Given the description of an element on the screen output the (x, y) to click on. 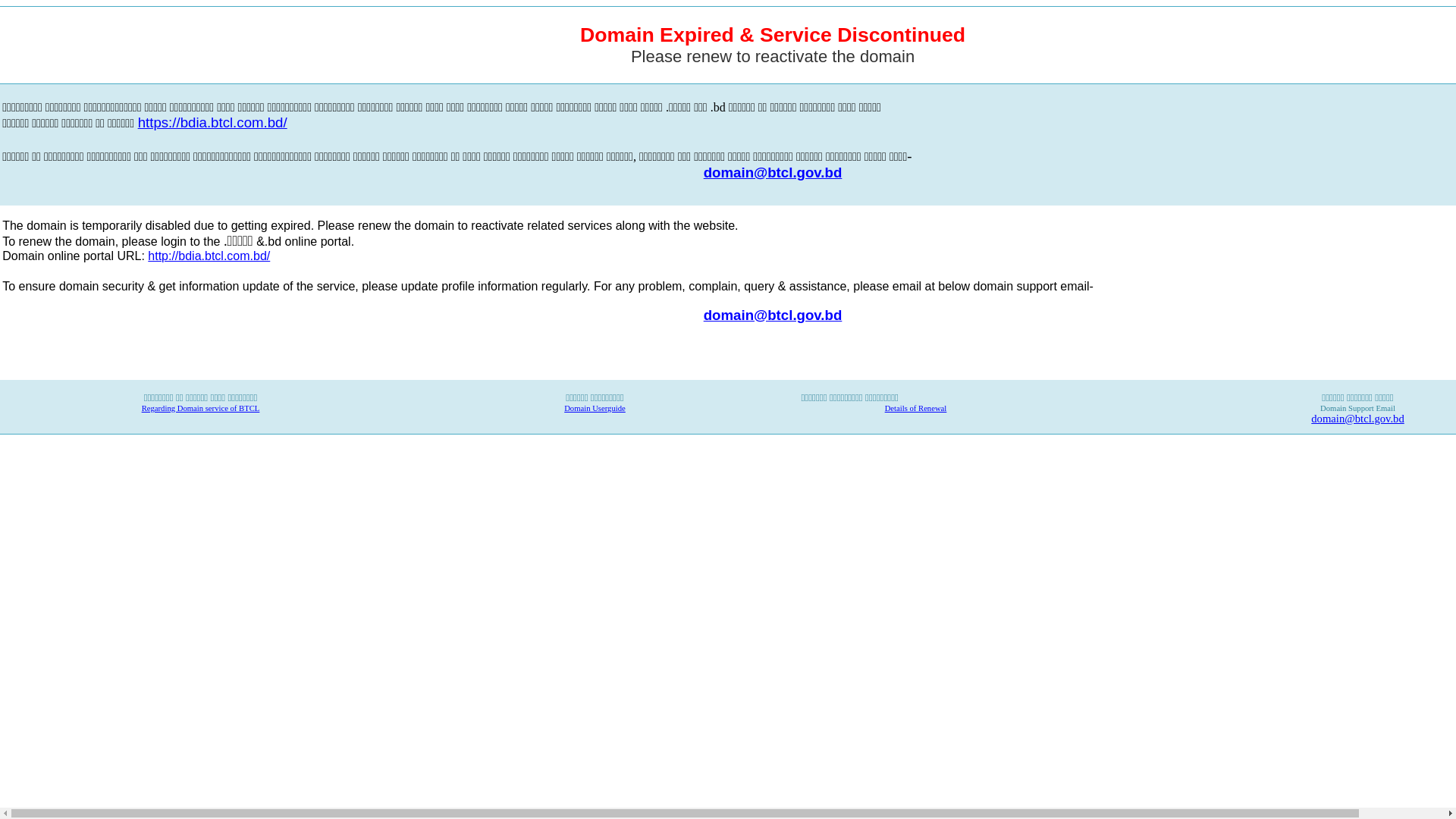
Domain Userguide Element type: text (594, 408)
domain@btcl.gov.bd Element type: text (1357, 418)
http://bdia.btcl.com.bd/ Element type: text (208, 256)
domain@btcl.gov.bd Element type: text (772, 314)
Regarding Domain service of BTCL Element type: text (200, 408)
domain@btcl.gov.bd Element type: text (772, 172)
Details of Renewal Element type: text (915, 408)
https://bdia.btcl.com.bd/ Element type: text (212, 123)
